Given the description of an element on the screen output the (x, y) to click on. 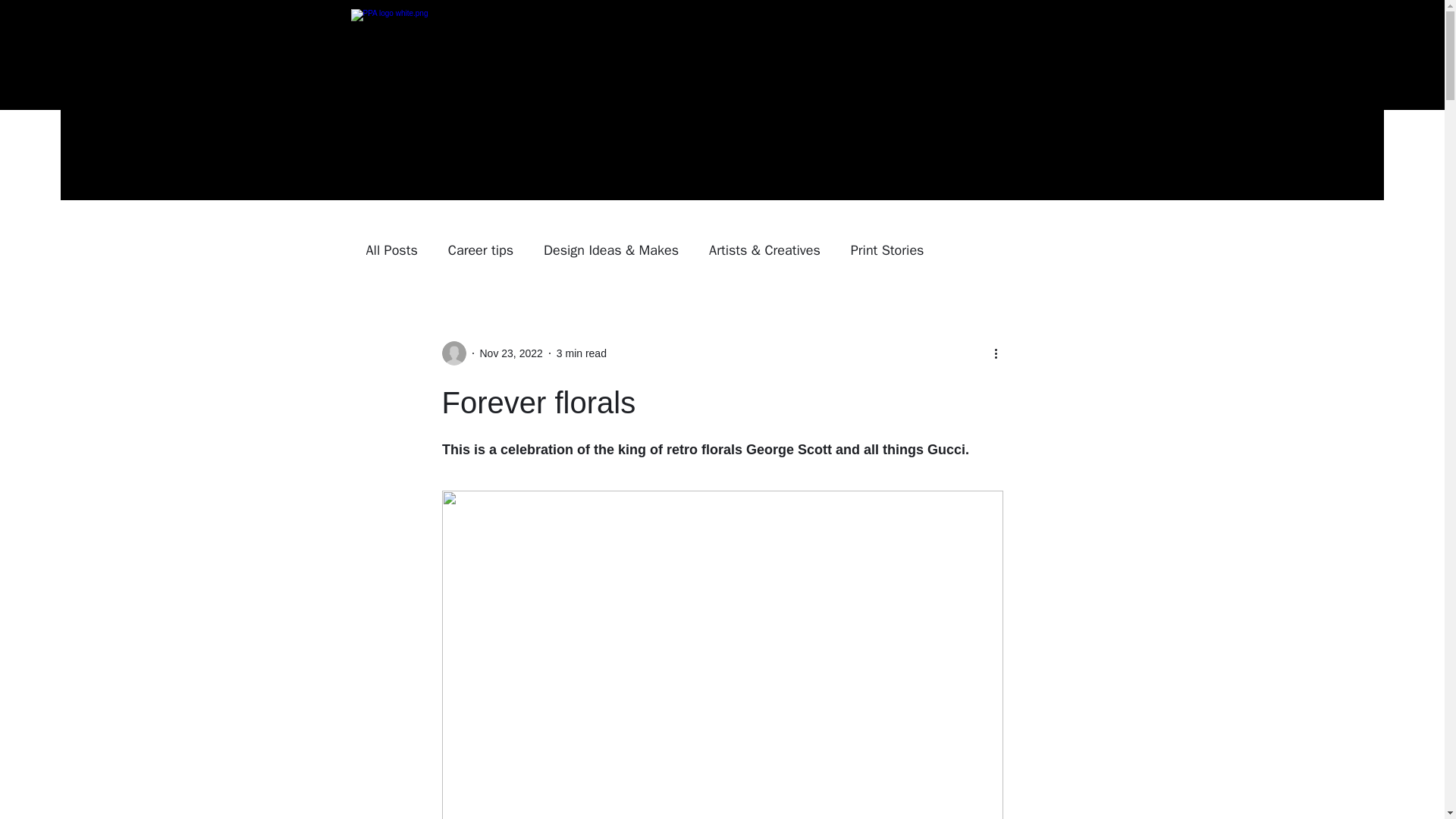
All Posts (390, 249)
Print Stories (887, 249)
Nov 23, 2022 (510, 353)
Career tips (480, 249)
3 min read (581, 353)
